Given the description of an element on the screen output the (x, y) to click on. 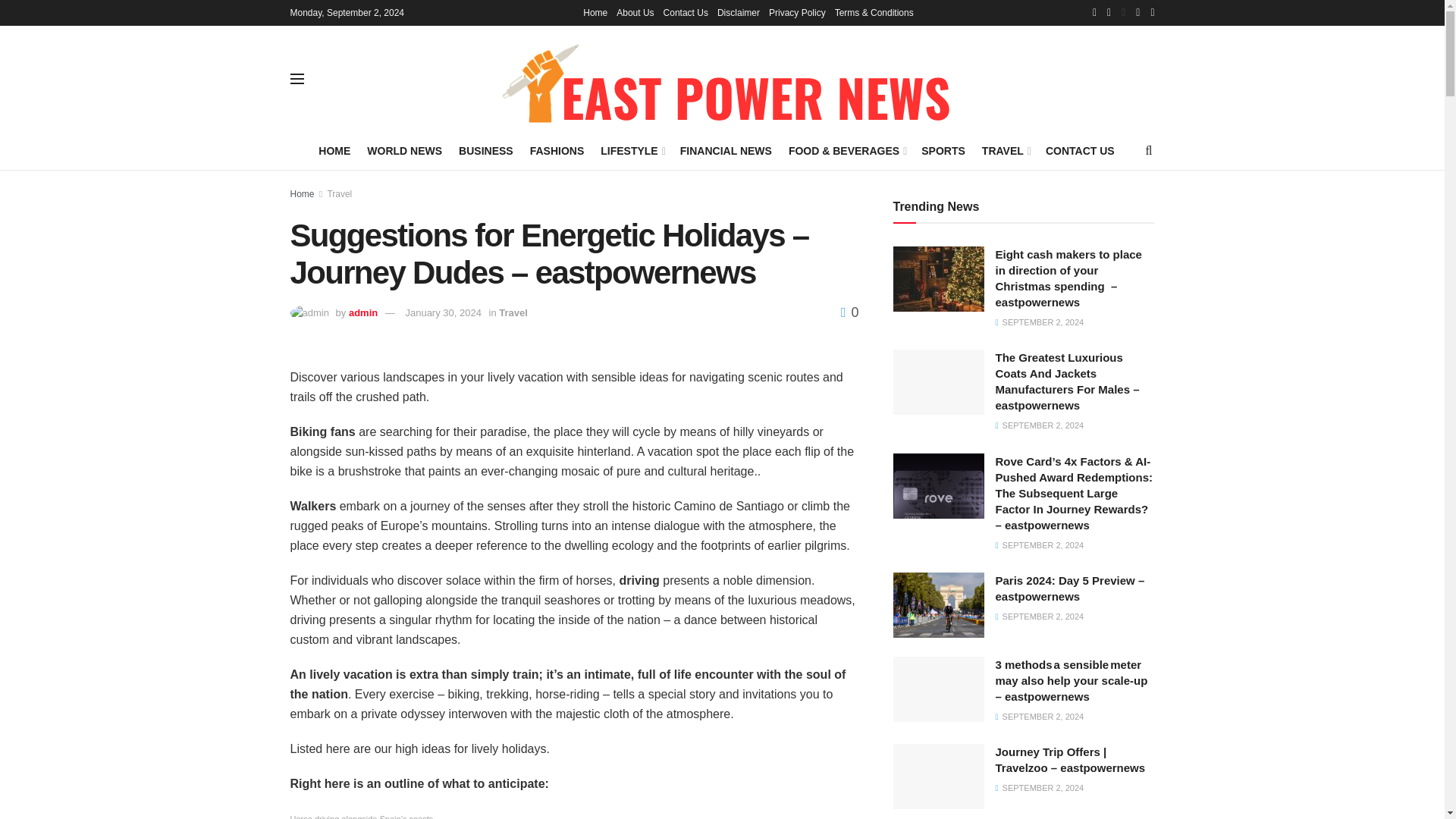
Contact Us (685, 12)
LIFESTYLE (631, 150)
BUSINESS (485, 150)
About Us (634, 12)
Home (595, 12)
Privacy Policy (796, 12)
CONTACT US (1080, 150)
Disclaimer (738, 12)
HOME (334, 150)
